Given the description of an element on the screen output the (x, y) to click on. 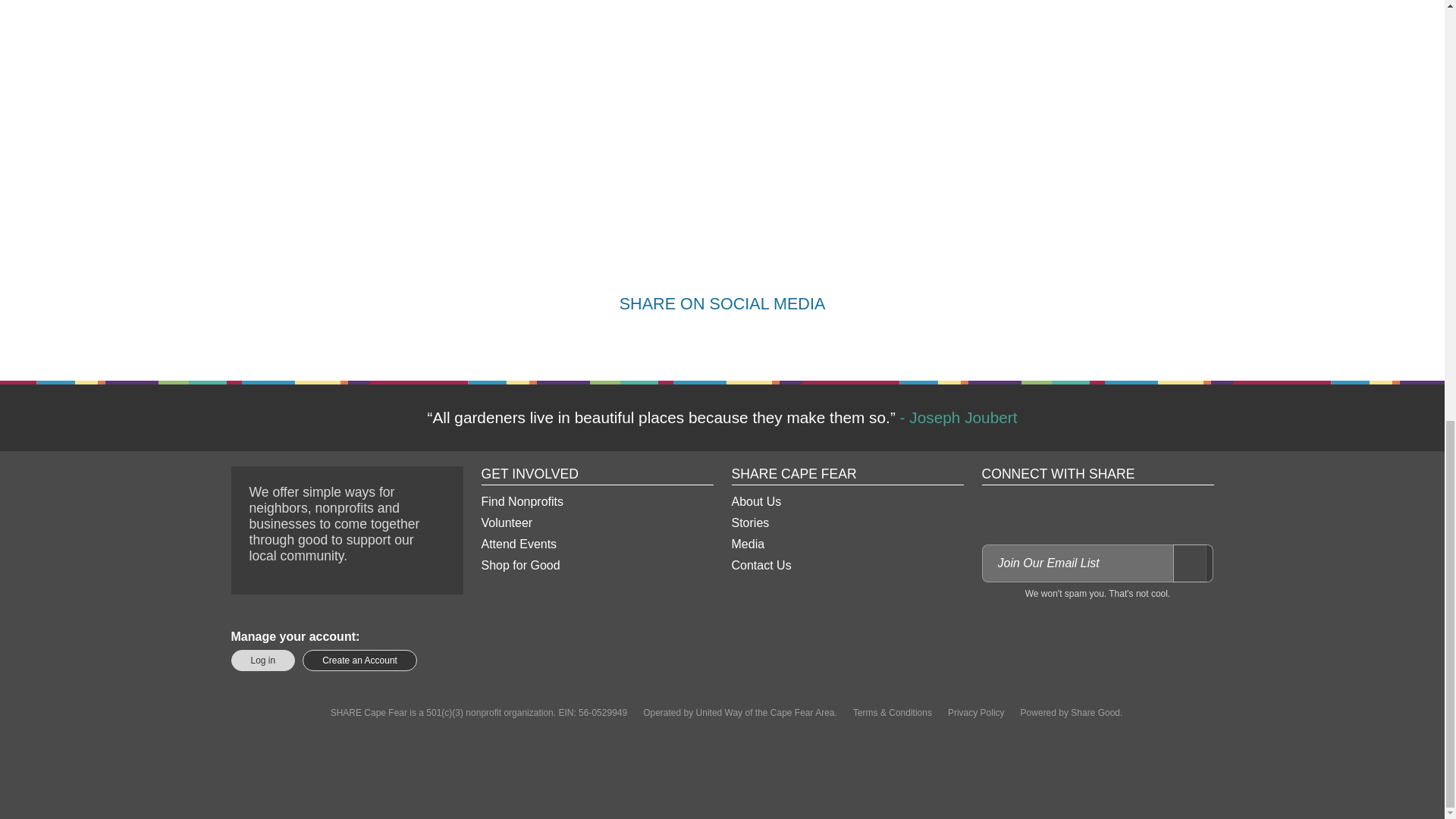
Share to Facebook (667, 340)
Stories (846, 522)
Join Our Email List (1192, 563)
Share to Linkedin (740, 340)
Share to X (703, 340)
Media (846, 544)
About Us (846, 501)
Find Nonprofits (596, 501)
Attend Events (596, 544)
Join Our Email List (1192, 563)
